Given the description of an element on the screen output the (x, y) to click on. 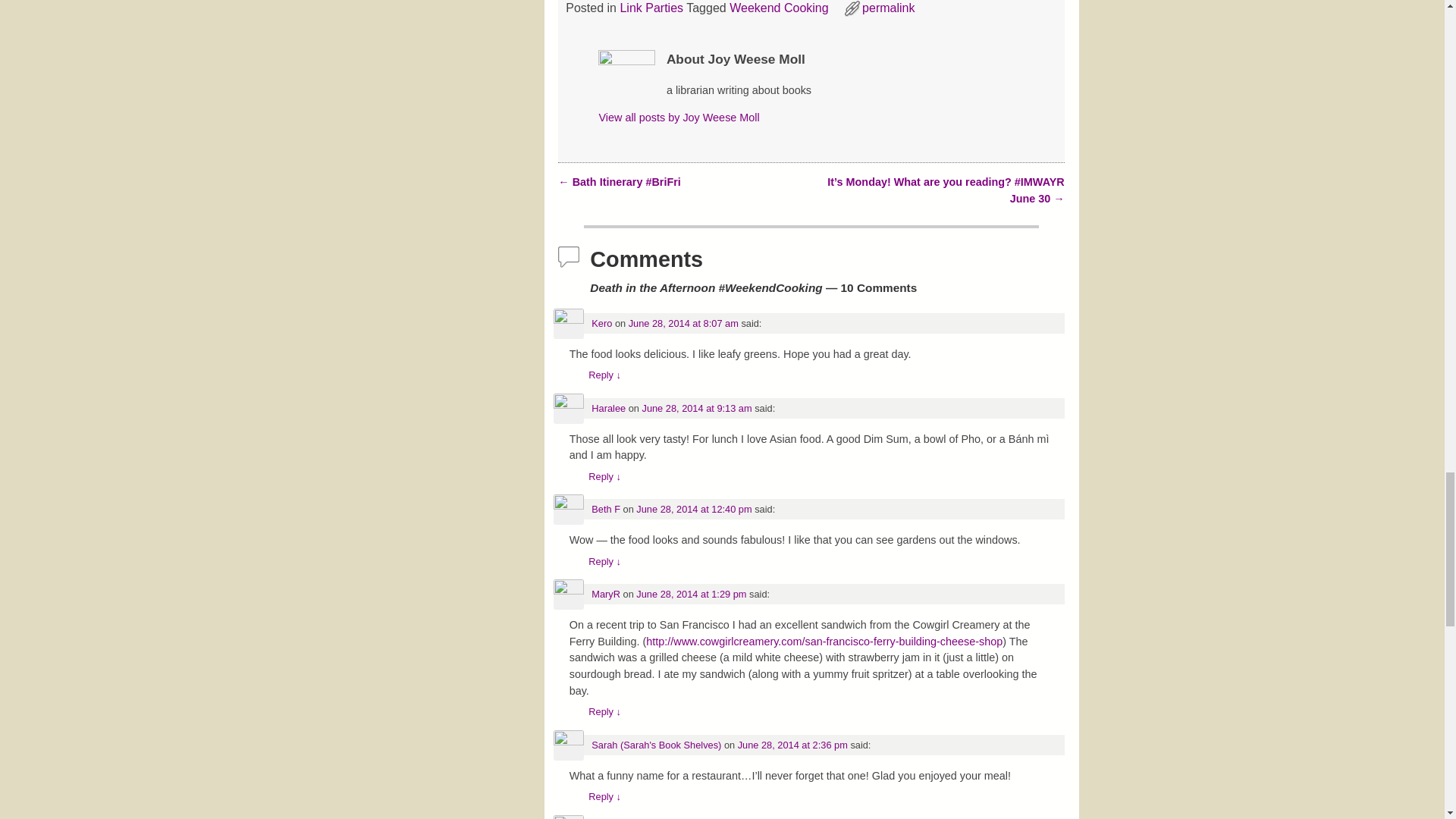
permalink (887, 7)
Weekend Cooking (778, 7)
View all posts by Joy Weese Moll (678, 117)
Kero (601, 323)
Link Parties (651, 7)
June 28, 2014 at 9:13 am (696, 408)
June 28, 2014 at 8:07 am (683, 323)
Haralee (608, 408)
